Given the description of an element on the screen output the (x, y) to click on. 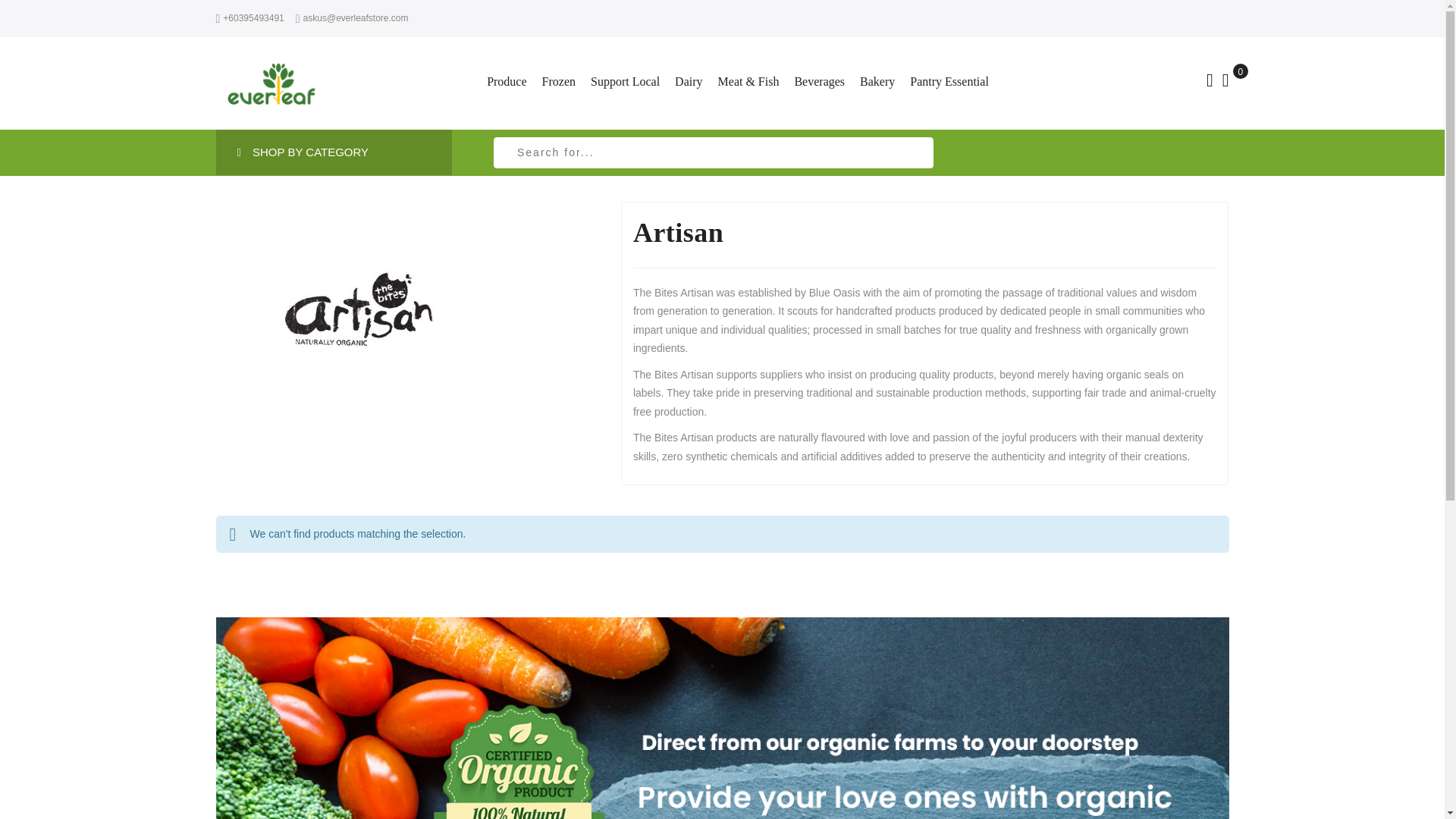
Support Local (624, 81)
Shop By Brand (293, 152)
Produce (510, 81)
Frozen (558, 81)
Go to Home Page (228, 152)
